Given the description of an element on the screen output the (x, y) to click on. 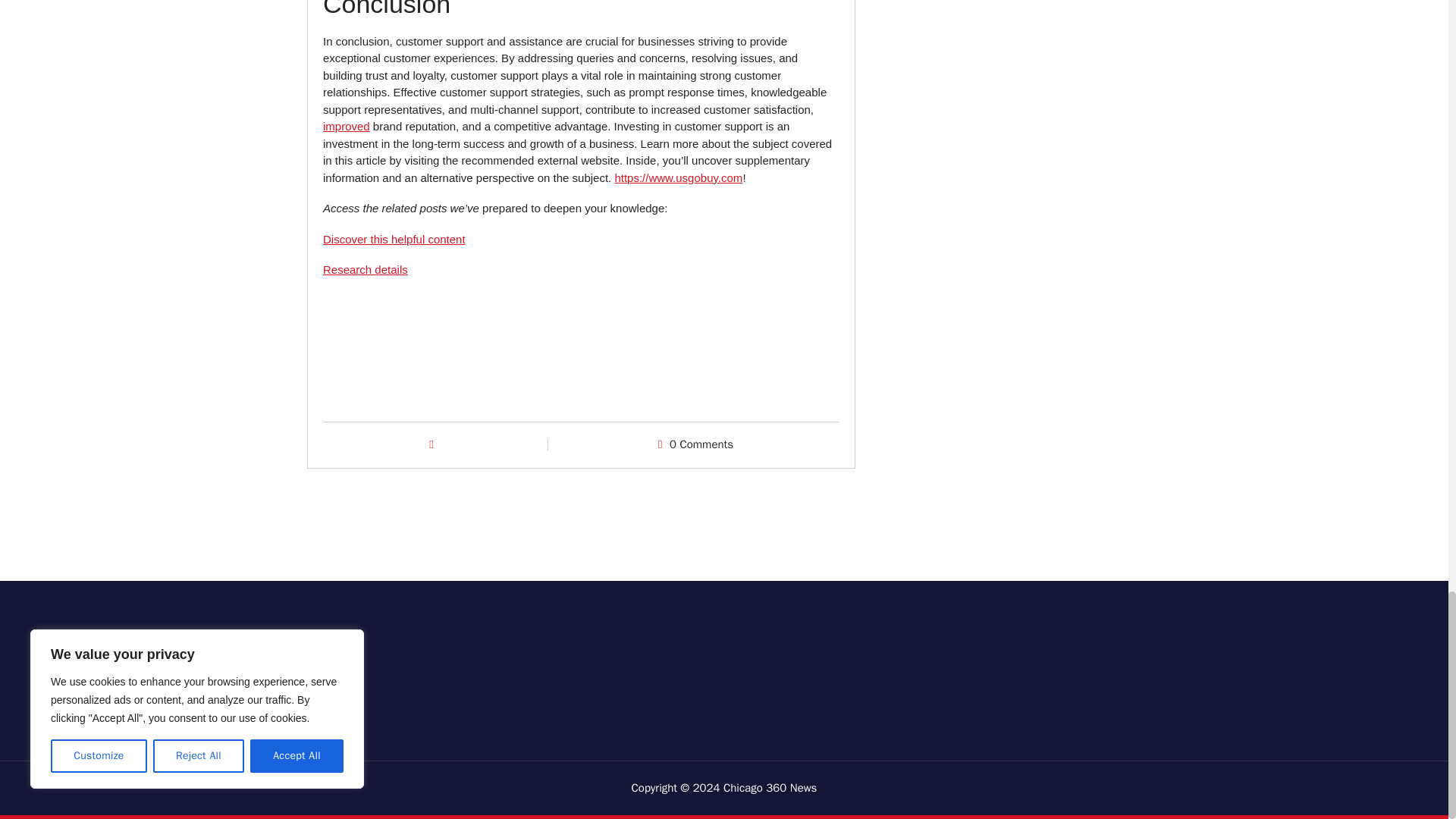
Discover this helpful content (394, 238)
Research details (365, 269)
improved (346, 125)
